Given the description of an element on the screen output the (x, y) to click on. 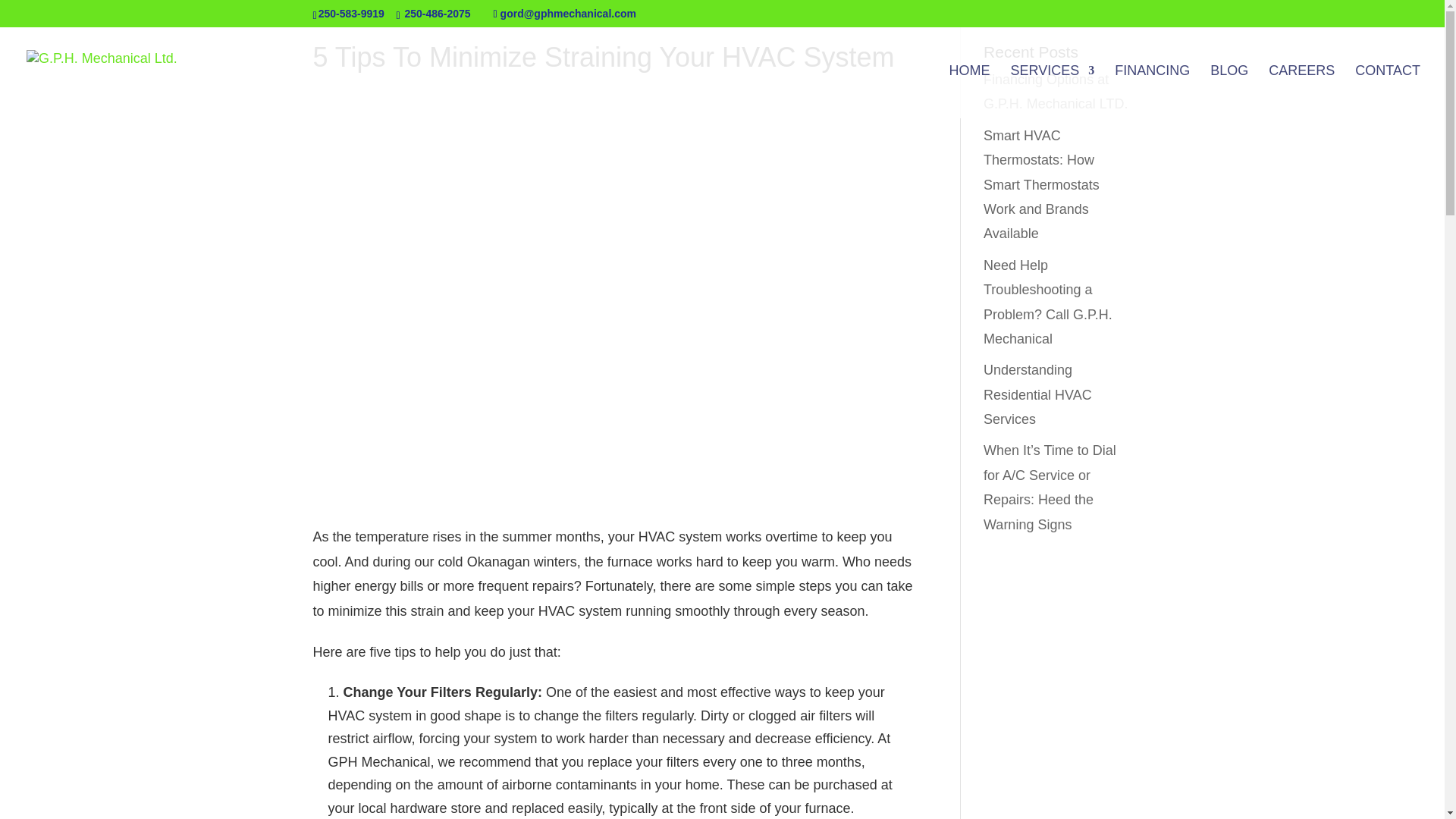
Understanding Residential HVAC Services (1038, 394)
250-486-2075 (437, 13)
CAREERS (1301, 91)
Financing Options at G.P.H. Mechanical LTD. (1055, 91)
CONTACT (1388, 91)
Need Help Troubleshooting a Problem? Call G.P.H. Mechanical (1048, 301)
SERVICES (1052, 91)
BLOG (1228, 91)
250-583-9919 (351, 13)
FINANCING (1152, 91)
HOME (969, 91)
